Given the description of an element on the screen output the (x, y) to click on. 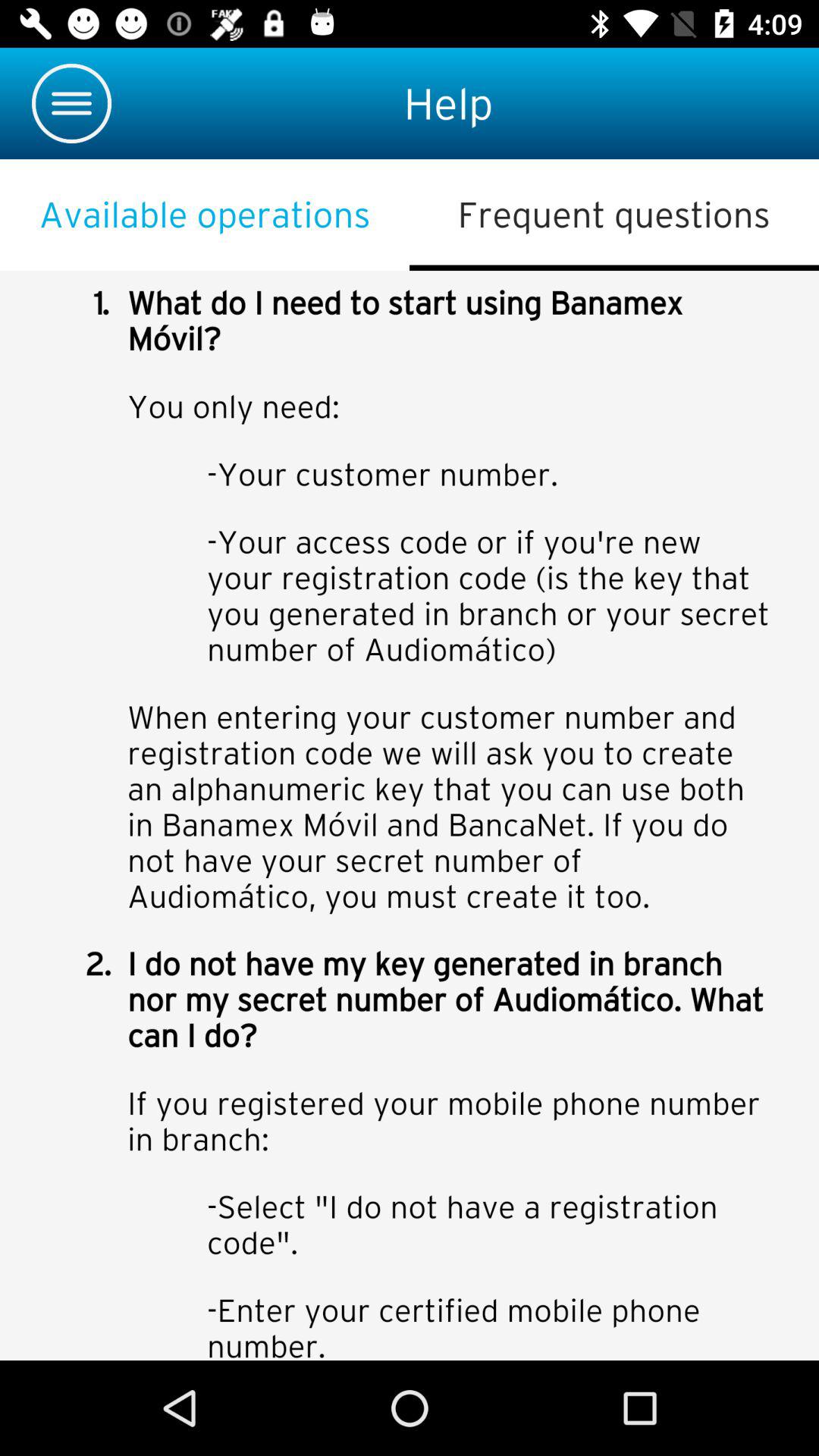
color print (409, 815)
